Given the description of an element on the screen output the (x, y) to click on. 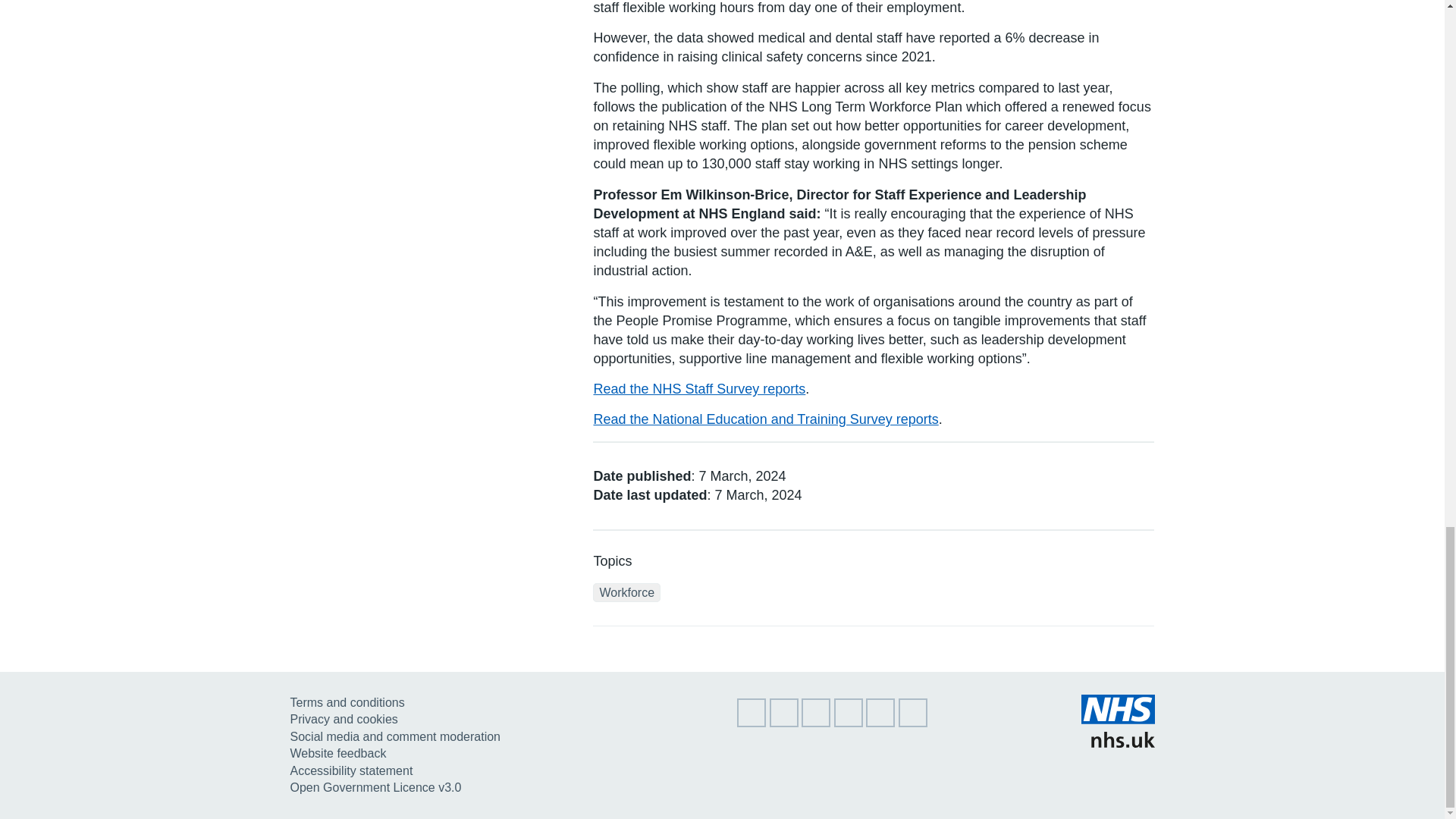
Open Government Licence v3.0 (375, 787)
Follow us on Facebook (815, 722)
Read the National Education and Training Survey reports (764, 418)
Privacy and cookies (343, 718)
Sign up to our email bulletins (750, 722)
Read the NHS Staff Survey reports (698, 388)
Privacy and cookies (343, 718)
Terms and conditions (346, 702)
Workforce (626, 592)
Social media and comment moderation (394, 736)
